Given the description of an element on the screen output the (x, y) to click on. 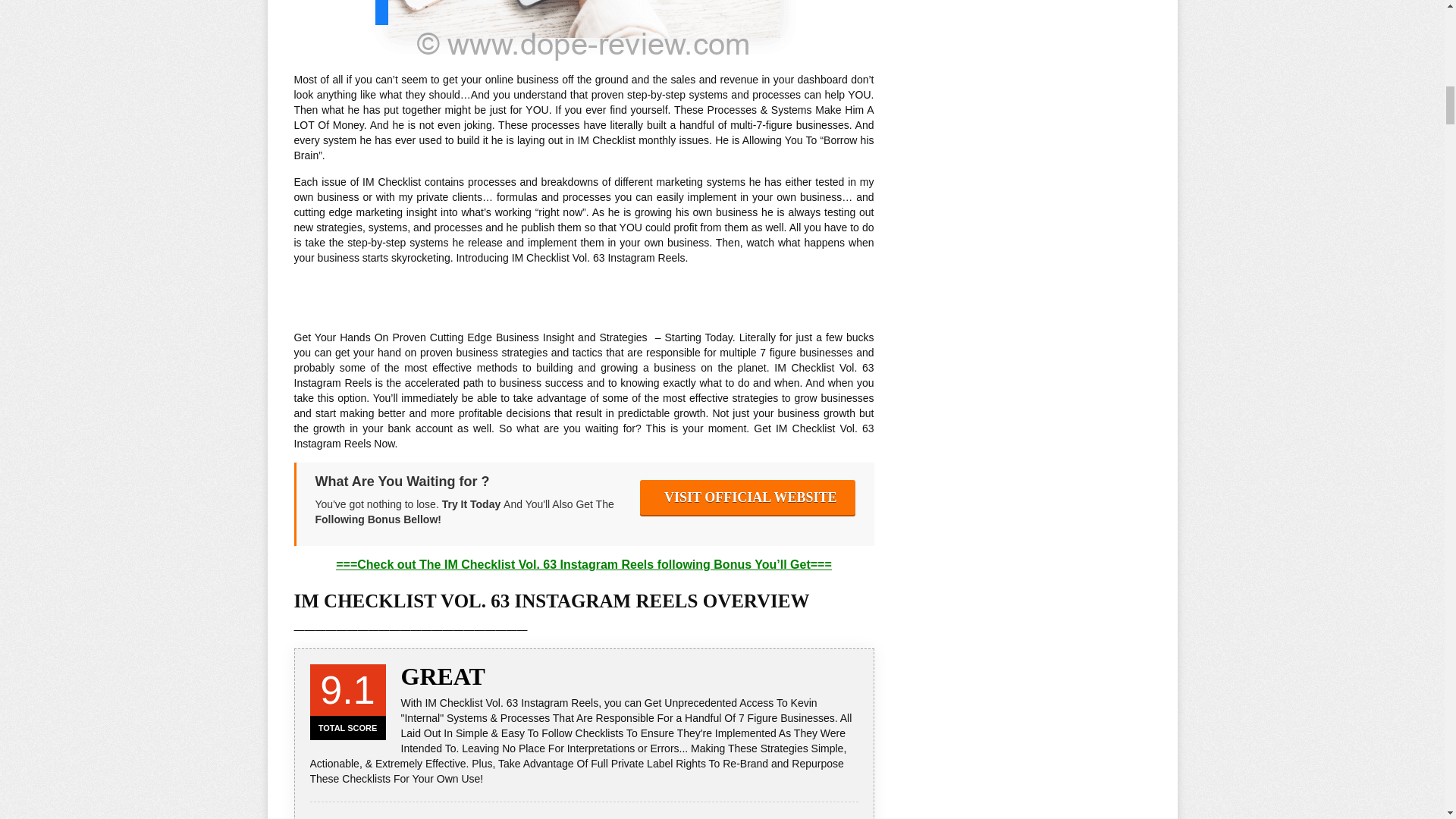
VISIT OFFICIAL WEBSITE (747, 497)
